Given the description of an element on the screen output the (x, y) to click on. 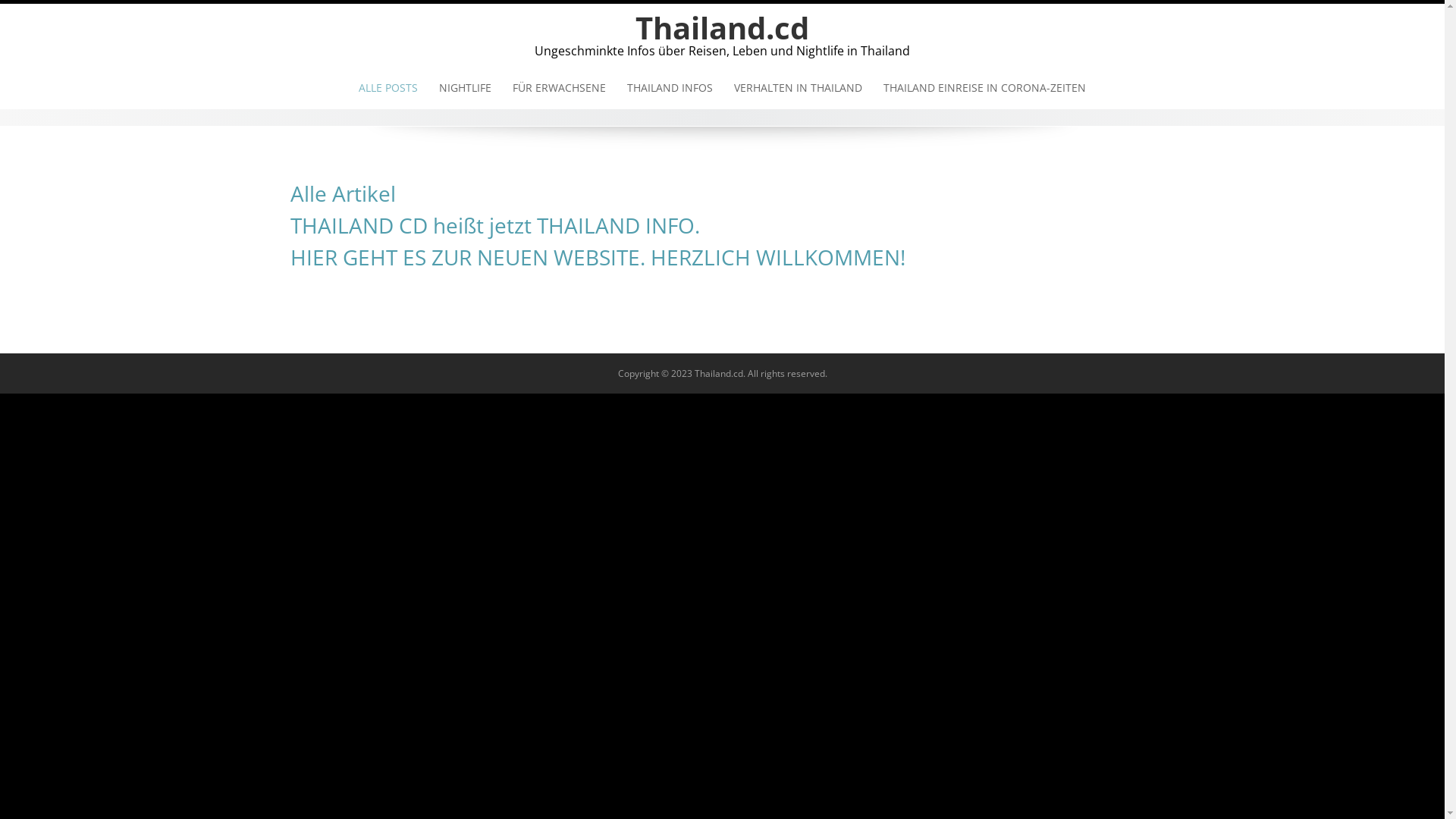
THAILAND INFOS Element type: text (669, 87)
HIER GEHT ES ZUR NEUEN WEBSITE. HERZLICH WILLKOMMEN! Element type: text (596, 256)
Thailand.cd Element type: text (722, 27)
VERHALTEN IN THAILAND Element type: text (797, 87)
NIGHTLIFE Element type: text (464, 87)
ALLE POSTS Element type: text (387, 87)
THAILAND EINREISE IN CORONA-ZEITEN Element type: text (984, 87)
